Given the description of an element on the screen output the (x, y) to click on. 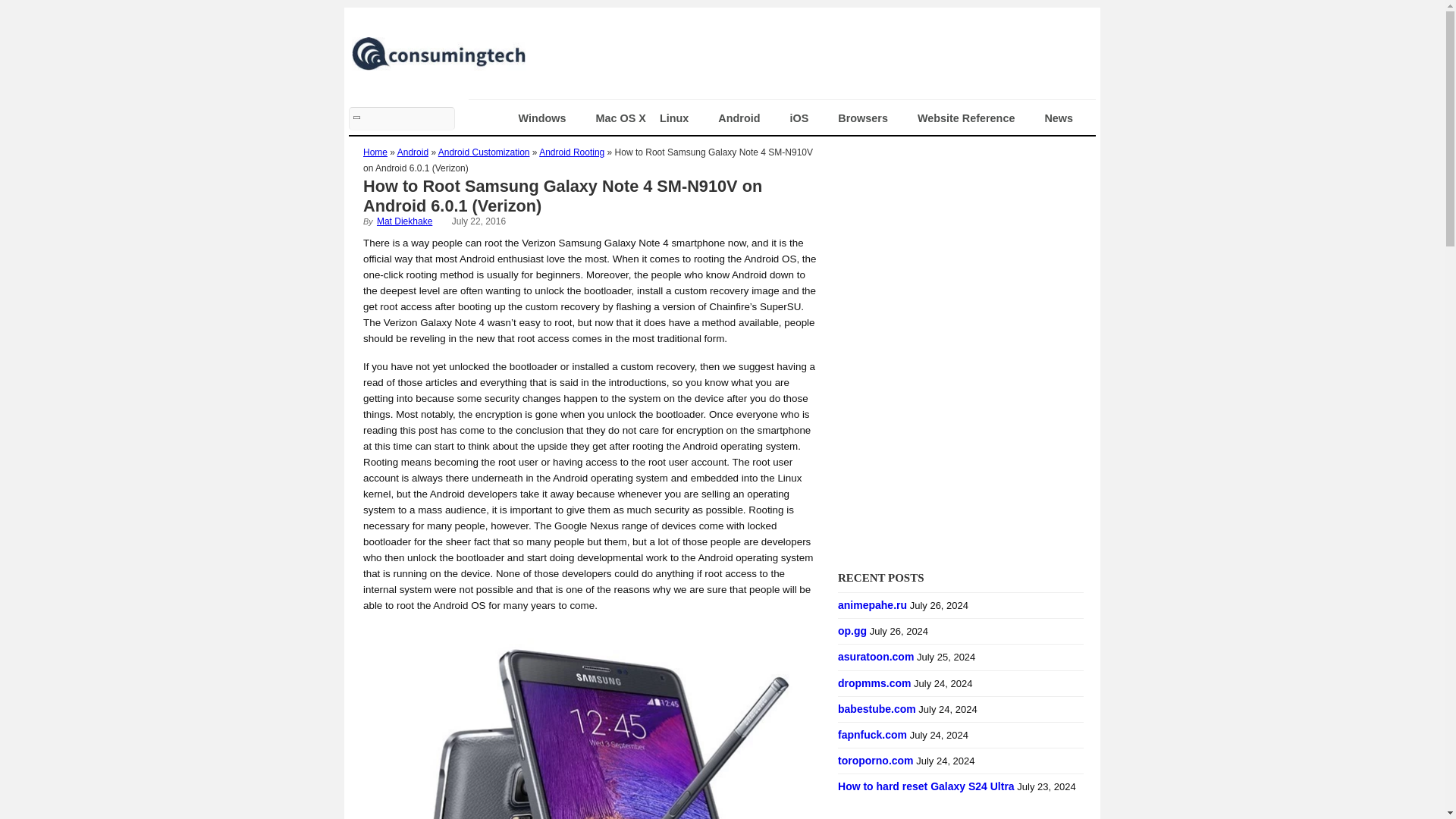
News (1067, 118)
Search (401, 118)
Linux (681, 118)
Android Rooting (571, 152)
Android (746, 118)
Windows (550, 118)
Consuming Tech (438, 64)
Mat Diekhake (404, 221)
Website Reference (974, 118)
iOS (807, 118)
Mac OS X (620, 118)
Android (412, 152)
Android Customization (483, 152)
Browsers (870, 118)
Home (374, 152)
